Given the description of an element on the screen output the (x, y) to click on. 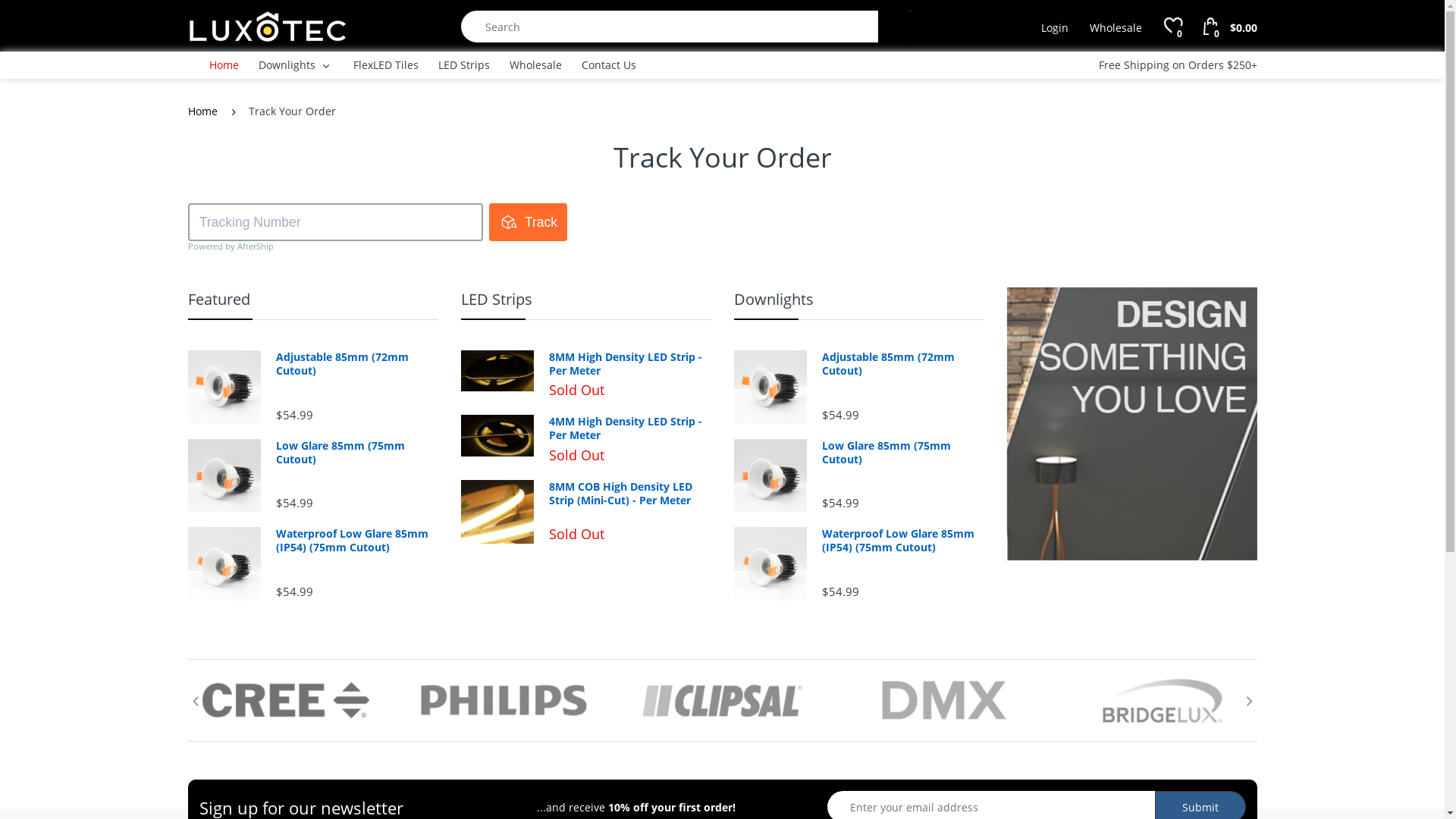
Low Glare 85mm (75mm Cutout) Element type: text (902, 452)
Wholesale Element type: text (535, 64)
Waterproof Low Glare 85mm (IP54) (75mm Cutout) Element type: text (356, 540)
Contact Us Element type: text (607, 64)
Adjustable 85mm (72mm Cutout) Element type: text (902, 363)
Login Element type: text (1054, 27)
Featured Element type: text (219, 298)
Wholesale Element type: text (1115, 27)
0
$0.00 Element type: text (1229, 24)
LED Strips Element type: text (463, 64)
4MM High Density LED Strip - Per Meter Element type: text (629, 428)
Waterproof Low Glare 85mm (IP54) (75mm Cutout) Element type: text (902, 540)
8MM High Density LED Strip - Per Meter Element type: text (629, 363)
8MM COB High Density LED Strip (Mini-Cut) - Per Meter Element type: text (629, 493)
Downlights Element type: text (773, 298)
Downlights Element type: text (285, 64)
FlexLED Tiles Element type: text (385, 64)
Low Glare 85mm (75mm Cutout) Element type: text (356, 452)
Home Element type: text (202, 111)
Powered by AfterShip Element type: text (230, 246)
0 Element type: text (1172, 26)
Home Element type: text (223, 64)
Luxotec Element type: hover (267, 25)
Adjustable 85mm (72mm Cutout) Element type: text (356, 363)
LED Strips Element type: text (496, 298)
